Given the description of an element on the screen output the (x, y) to click on. 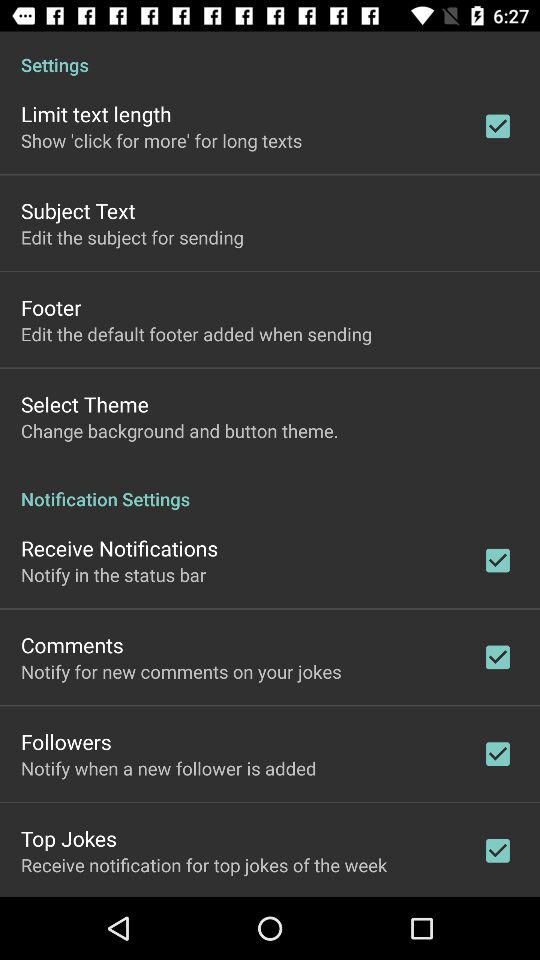
tap receive notification for (204, 864)
